Given the description of an element on the screen output the (x, y) to click on. 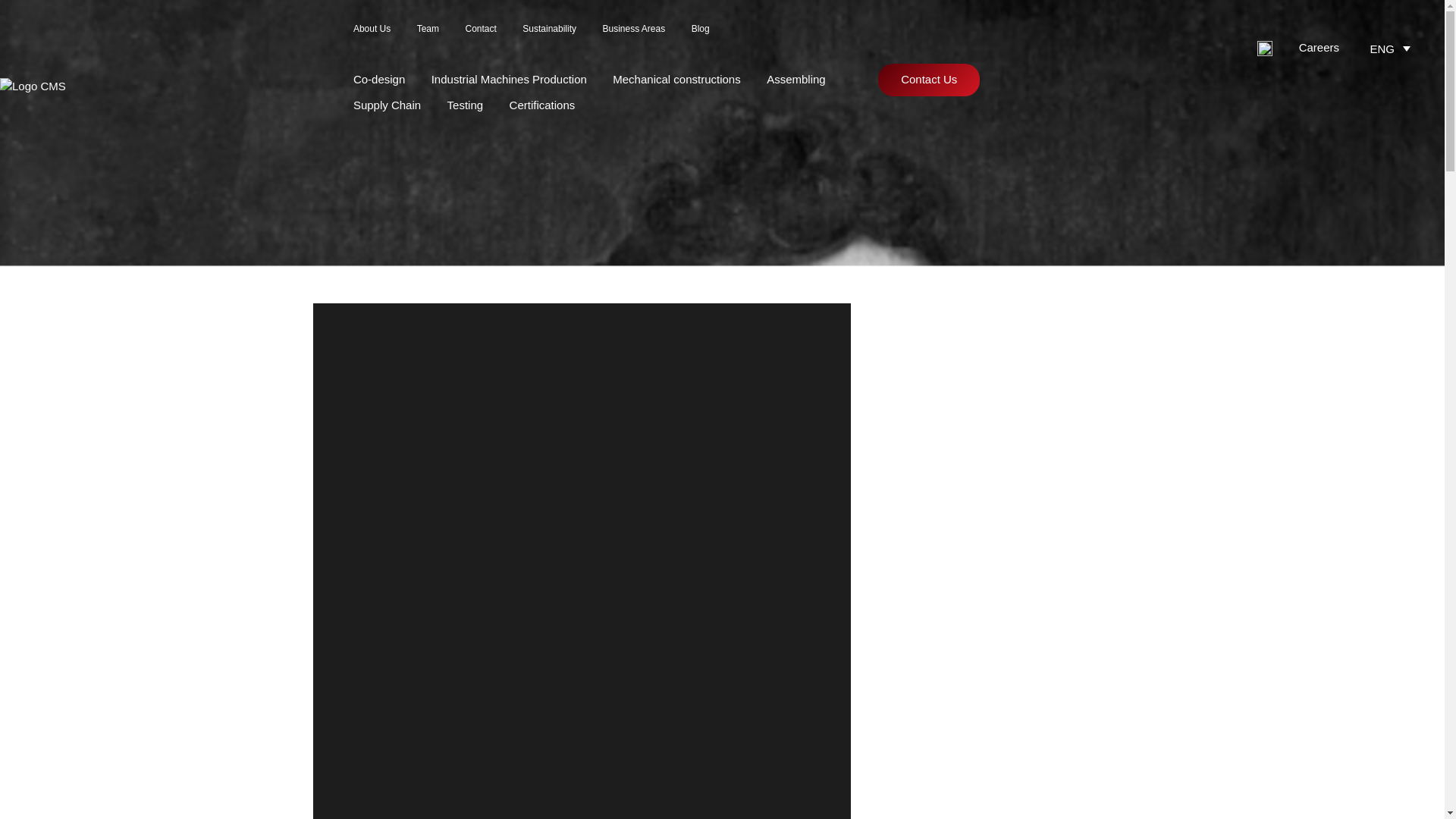
ENG (1391, 47)
Contact (480, 28)
Assembling (796, 78)
Contact Us (928, 79)
Careers (1318, 47)
Certifications (542, 104)
Supply Chain (386, 104)
Business Areas (633, 28)
Testing (464, 104)
Mechanical constructions (675, 78)
